Given the description of an element on the screen output the (x, y) to click on. 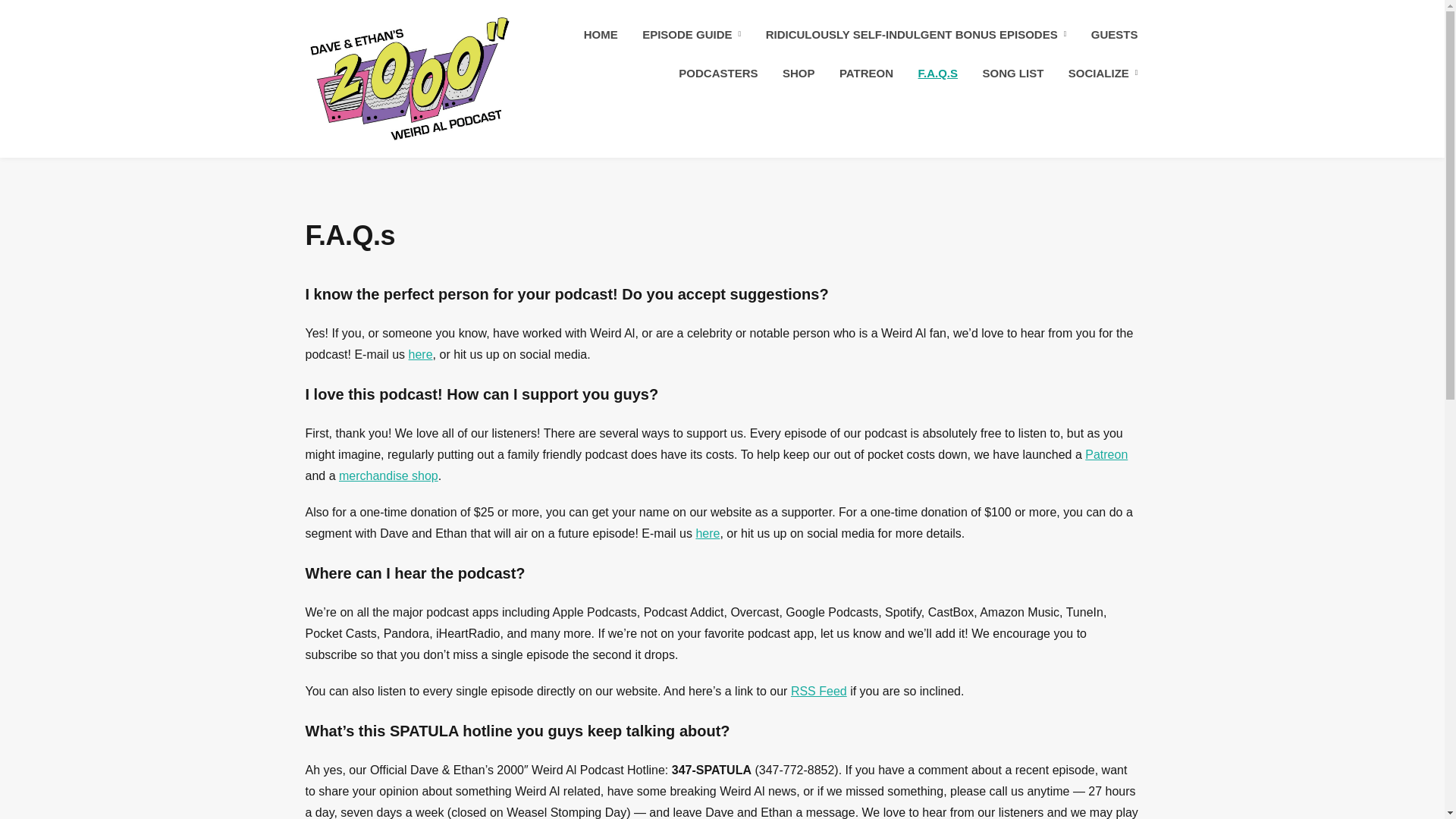
PATREON (866, 73)
RIDICULOUSLY SELF-INDULGENT BONUS EPISODES (916, 34)
PODCASTERS (717, 73)
HOME (601, 34)
SONG LIST (1013, 73)
F.A.Q.S (938, 73)
SOCIALIZE (1103, 73)
GUESTS (1114, 34)
SHOP (798, 73)
EPISODE GUIDE (691, 34)
